Given the description of an element on the screen output the (x, y) to click on. 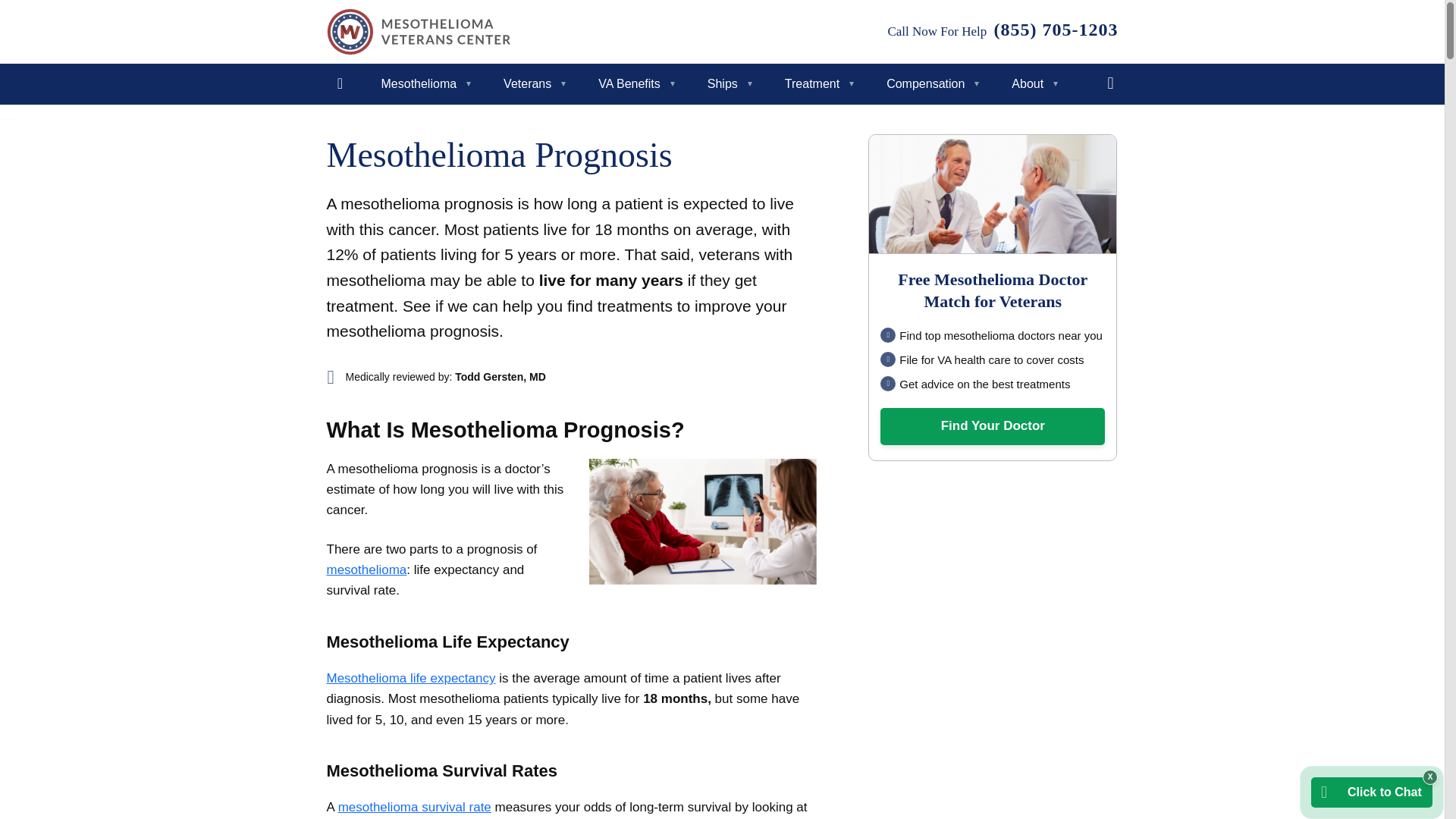
Mesothelioma (422, 83)
Mesothelioma (422, 83)
Veterans (530, 83)
Home (339, 83)
Mesothelioma Veterans Center (418, 31)
Mesothelioma Veterans Center (418, 31)
Home (339, 83)
